Given the description of an element on the screen output the (x, y) to click on. 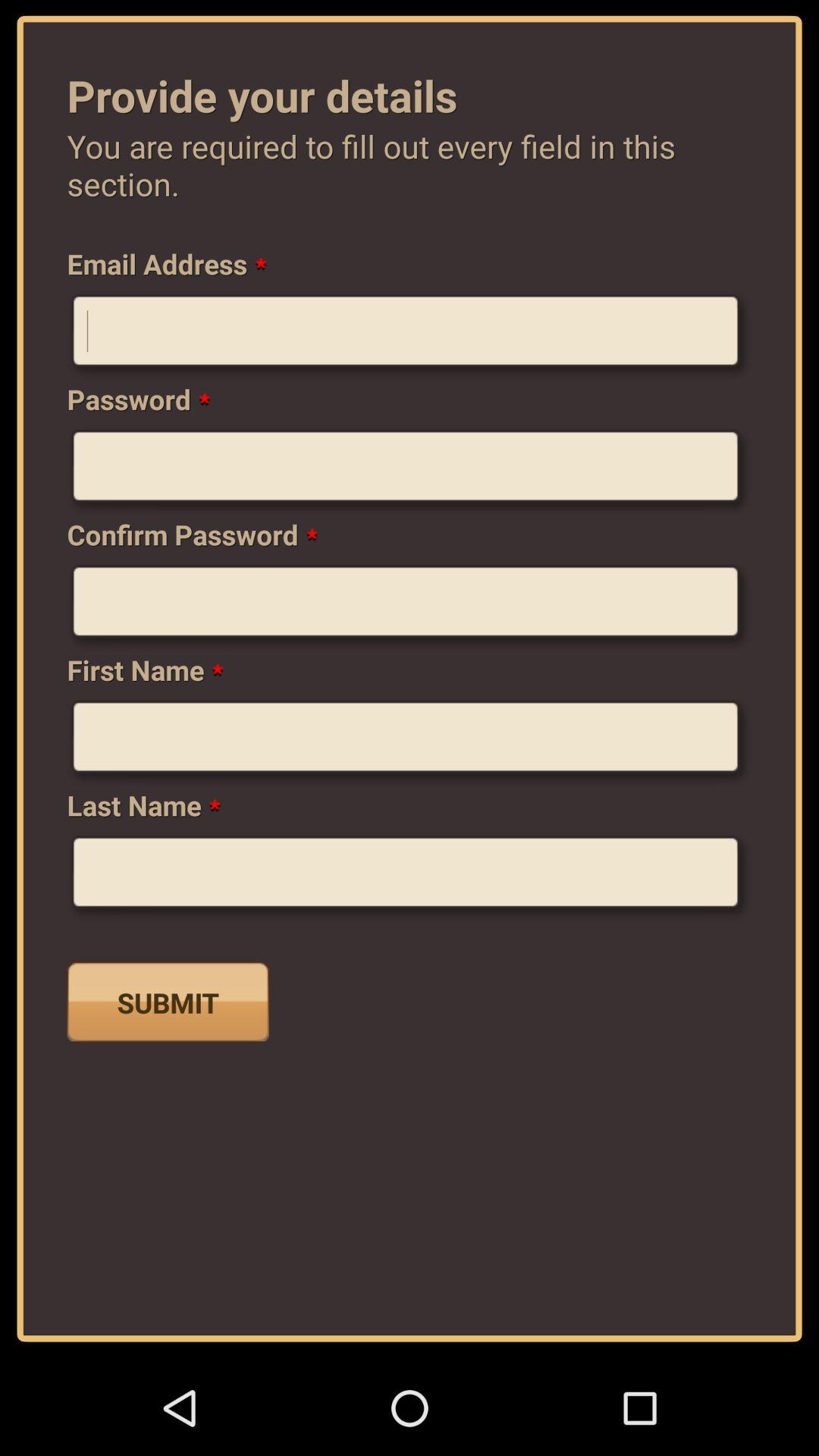
enter password (409, 471)
